Given the description of an element on the screen output the (x, y) to click on. 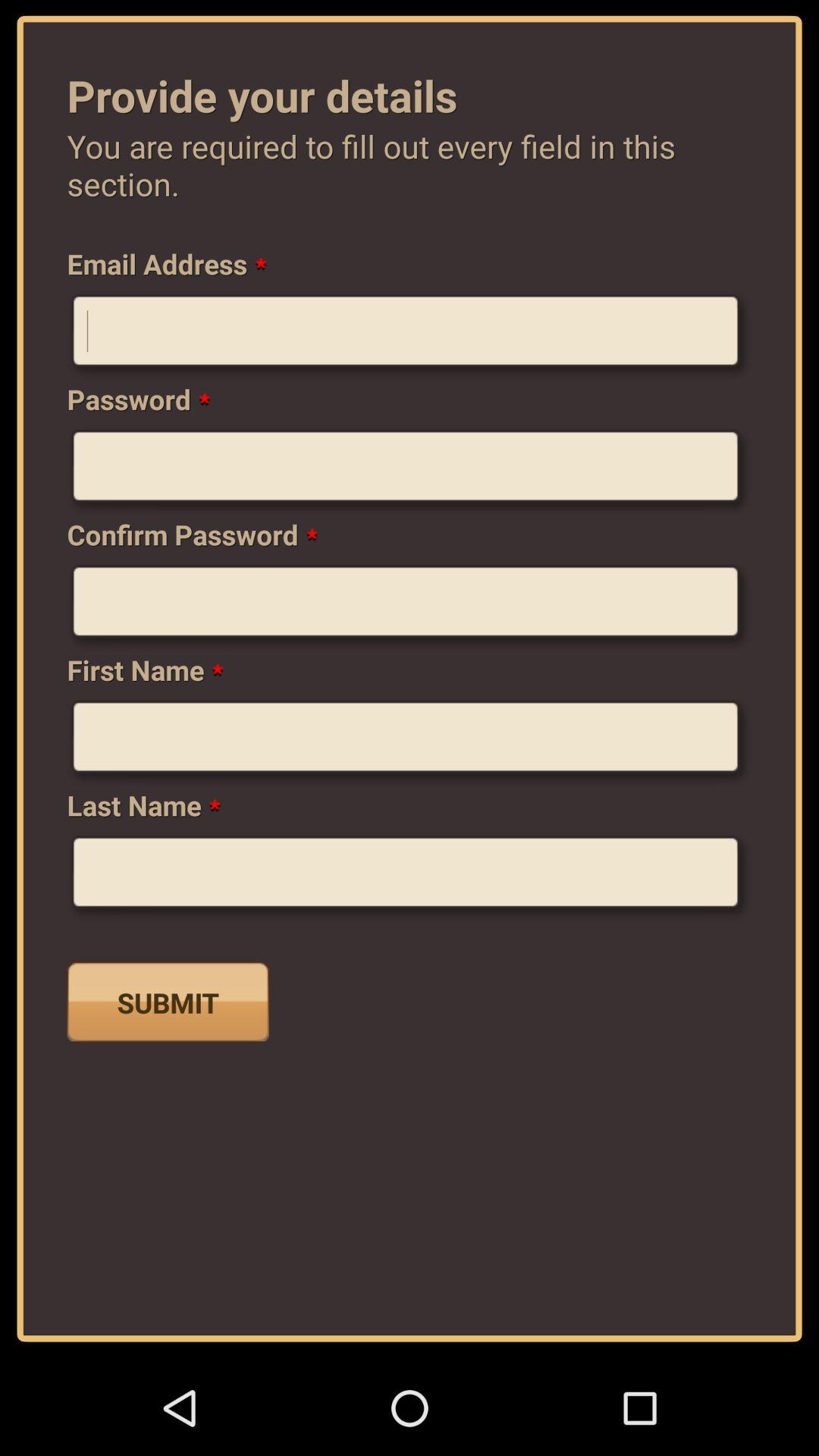
enter password (409, 471)
